Given the description of an element on the screen output the (x, y) to click on. 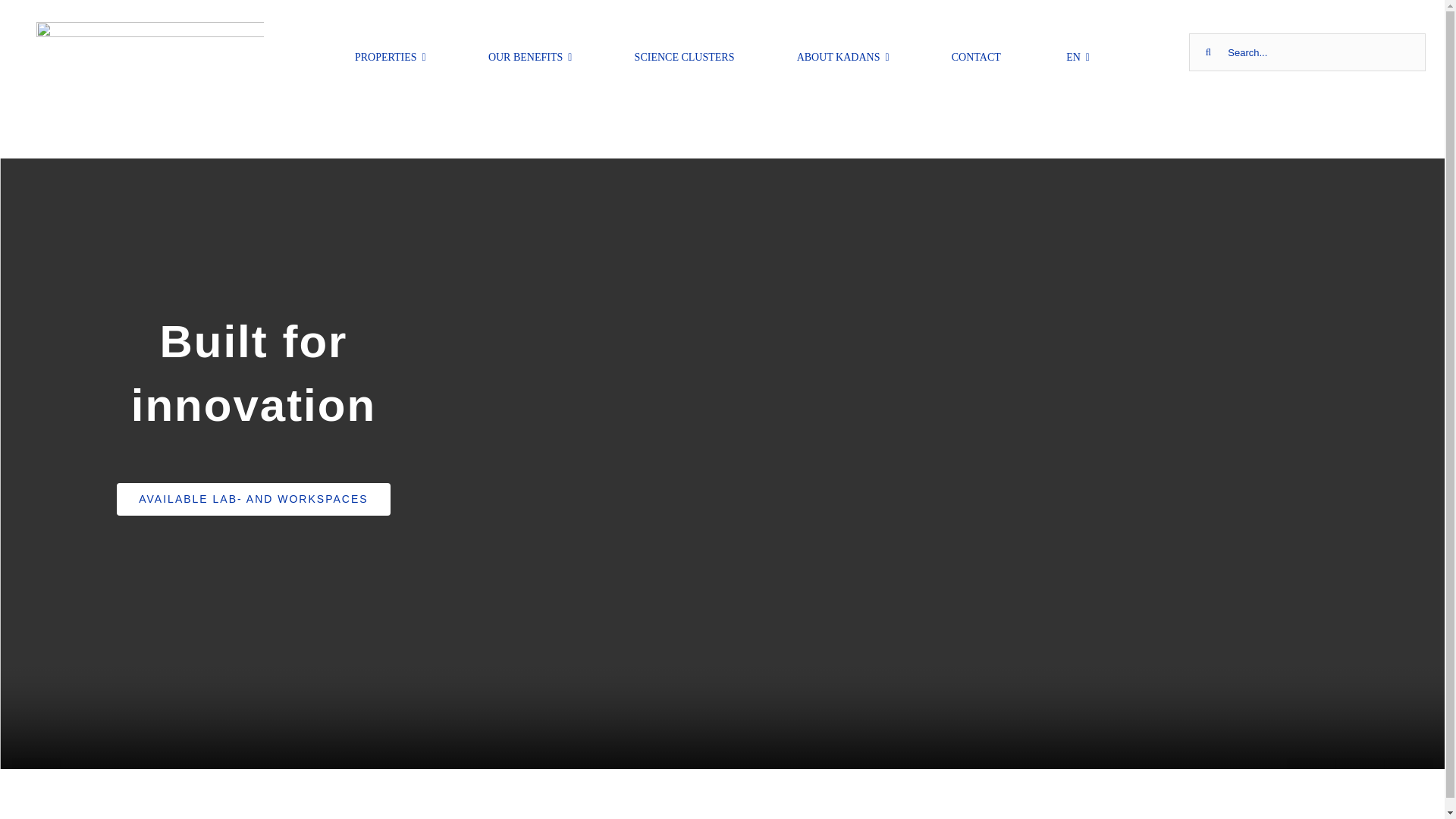
CONTACT (976, 52)
PROPERTIES (390, 52)
ABOUT KADANS (842, 52)
OUR BENEFITS (529, 52)
AVAILABLE LAB- AND WORKSPACES (253, 499)
SCIENCE CLUSTERS (684, 52)
